Given the description of an element on the screen output the (x, y) to click on. 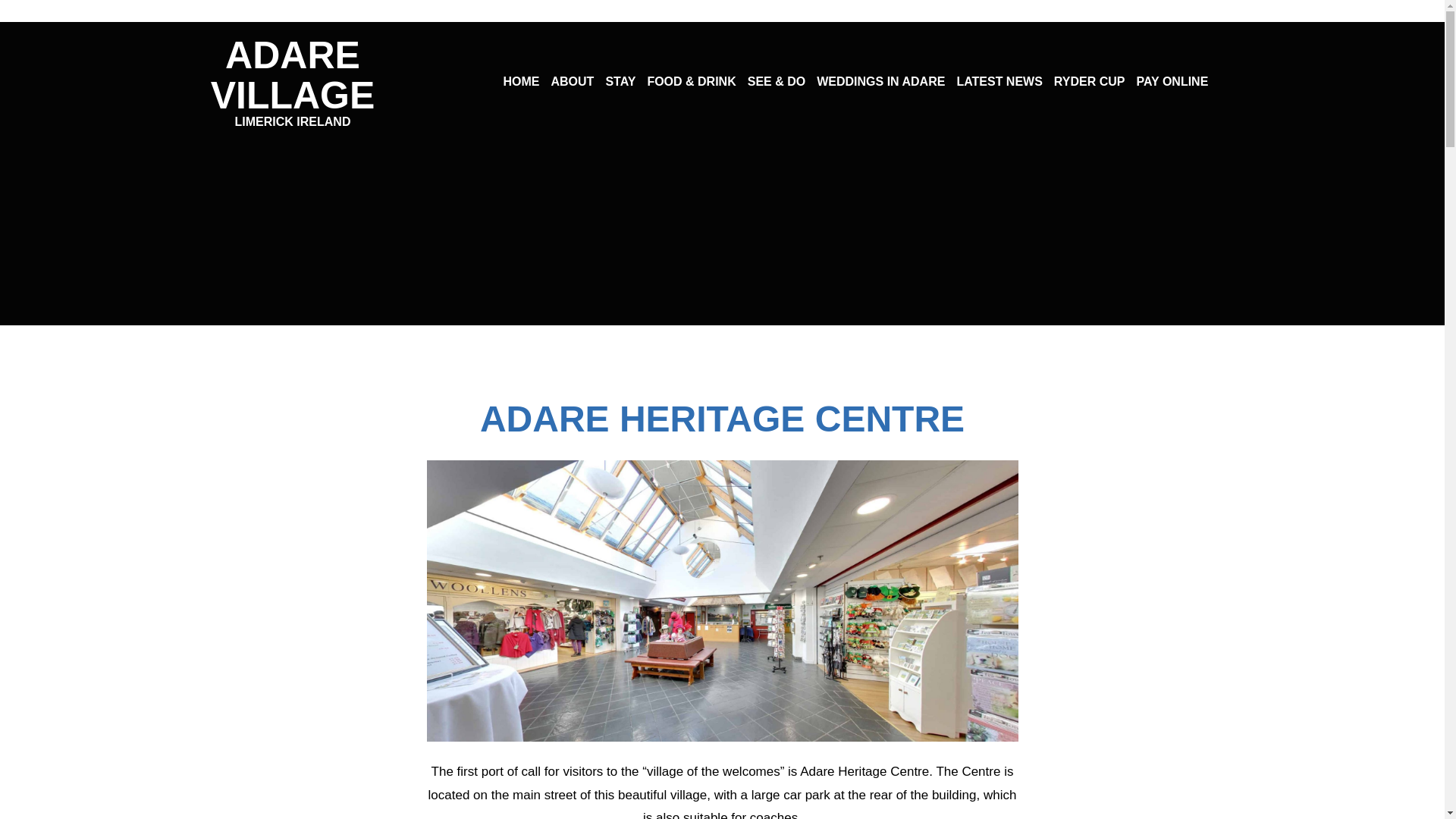
HOME (293, 80)
ABOUT (520, 82)
PAY ONLINE (572, 82)
LATEST NEWS (1171, 82)
RYDER CUP (999, 82)
STAY (1089, 82)
WEDDINGS IN ADARE (619, 82)
